Given the description of an element on the screen output the (x, y) to click on. 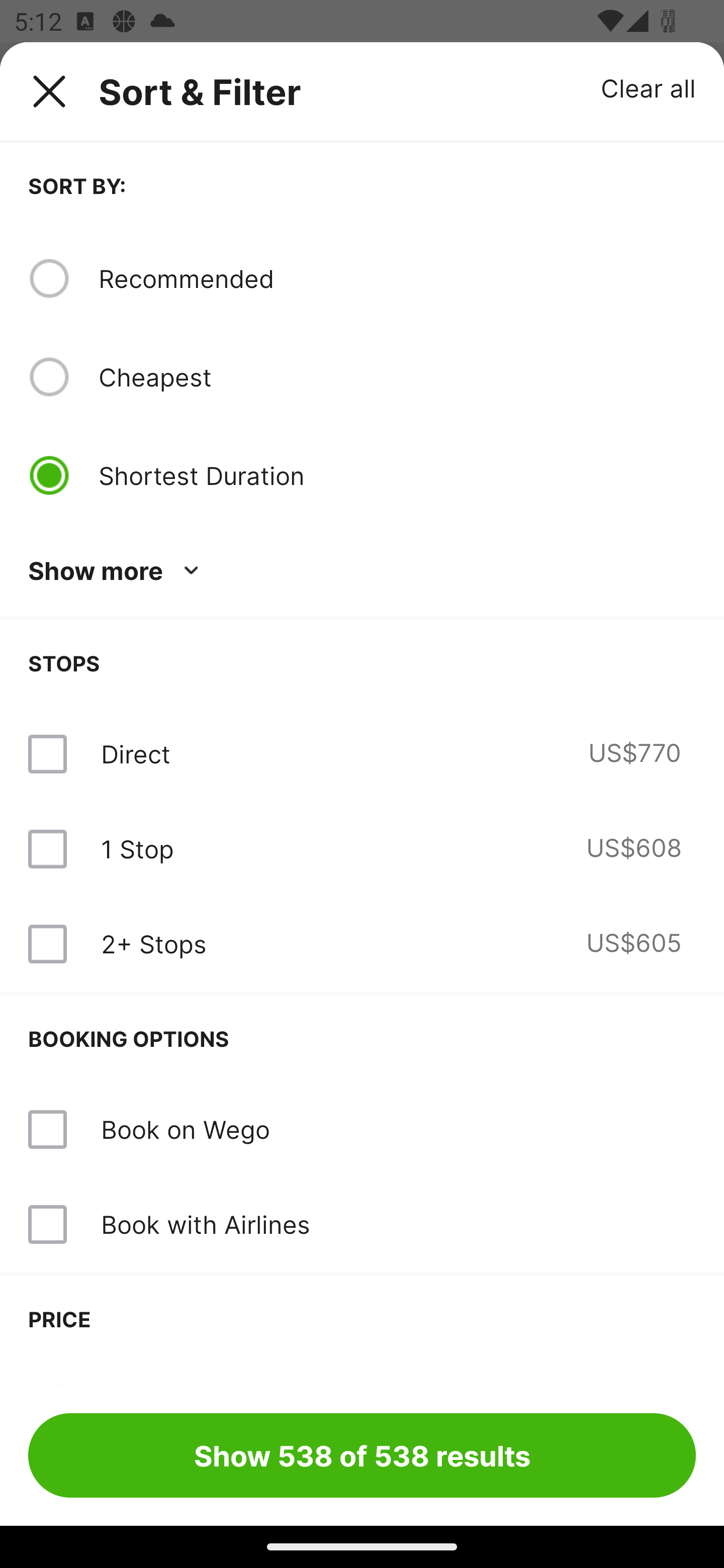
Clear all (648, 87)
Recommended  (396, 278)
Cheapest (396, 377)
Shortest Duration (396, 474)
Show more (116, 570)
Direct US$770 (362, 754)
Direct (135, 753)
1 Stop US$608 (362, 848)
1 Stop (136, 849)
2+ Stops US$605 (362, 943)
2+ Stops (153, 943)
Book on Wego (362, 1129)
Book on Wego (184, 1128)
Book with Airlines (362, 1224)
Book with Airlines (204, 1224)
Show 538 of 538 results (361, 1454)
